Given the description of an element on the screen output the (x, y) to click on. 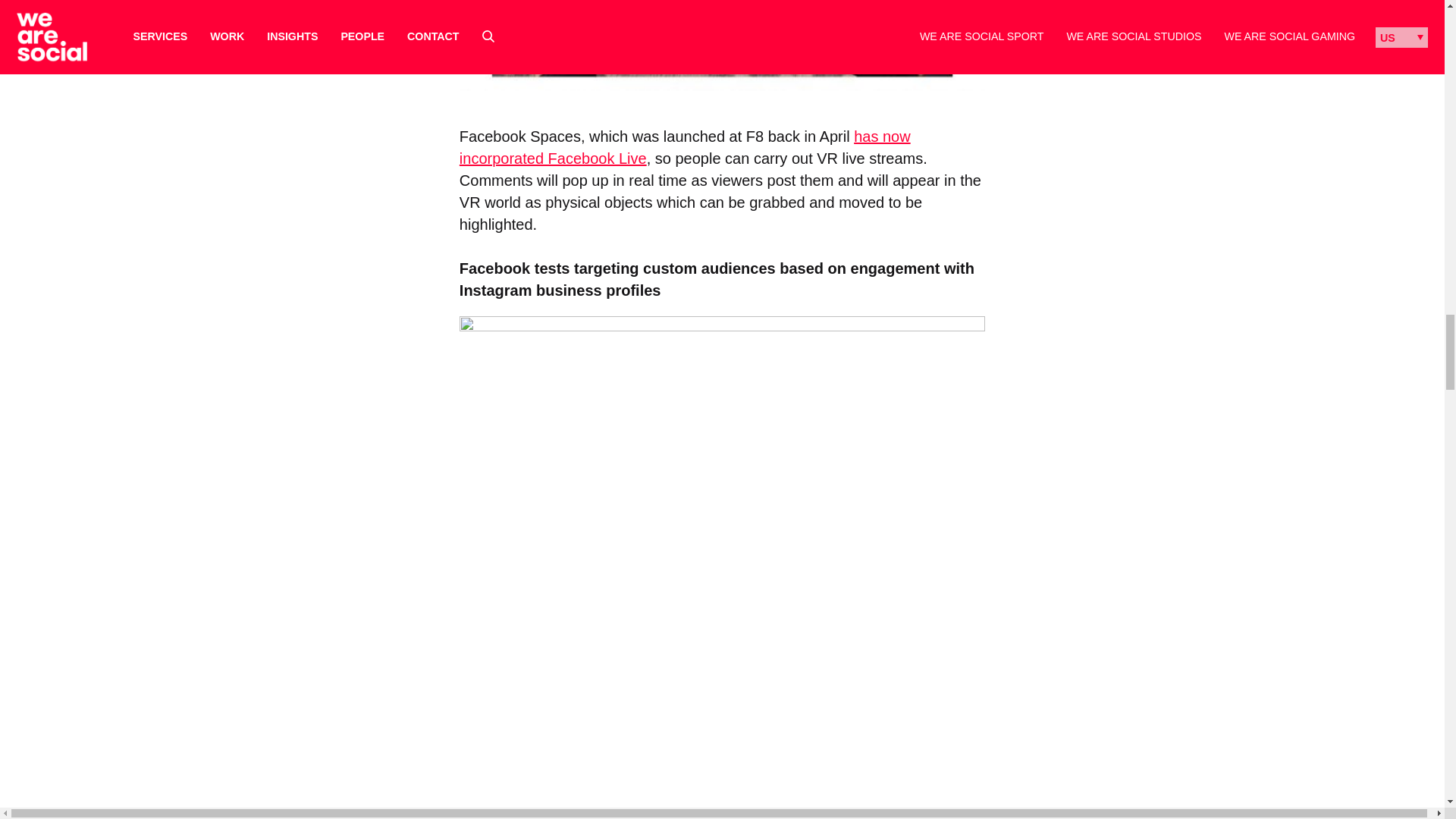
has now incorporated Facebook Live (685, 147)
